Given the description of an element on the screen output the (x, y) to click on. 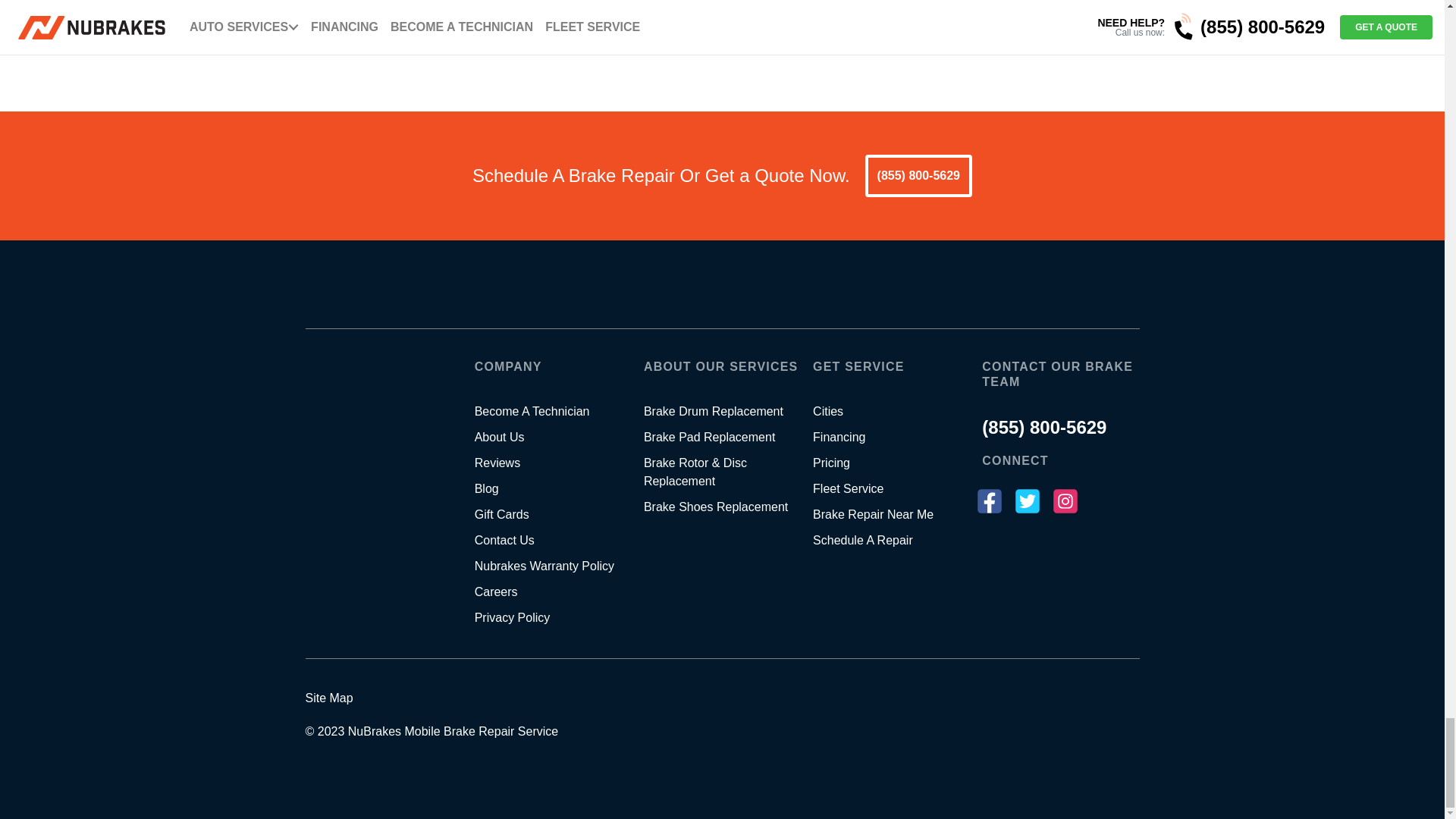
instagram (1077, 502)
facebook (1000, 502)
twitter (1039, 502)
